Given the description of an element on the screen output the (x, y) to click on. 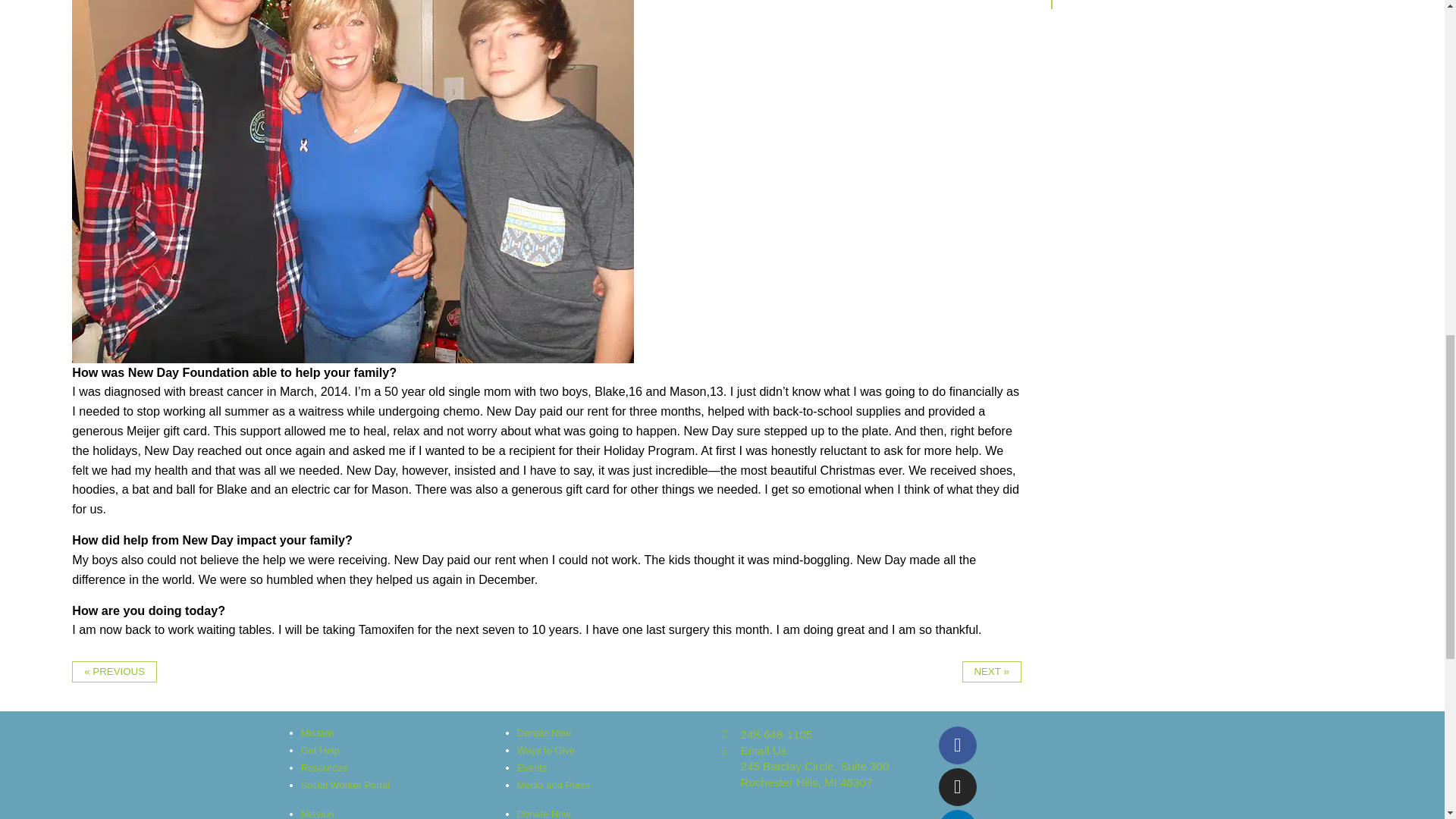
Mission (317, 813)
Email Us (829, 750)
Social Worker Portal (829, 774)
Resources (345, 785)
Mission (324, 767)
Events (317, 732)
248-648-1105 (531, 767)
Get Help (829, 734)
Donate Now (320, 749)
